Given the description of an element on the screen output the (x, y) to click on. 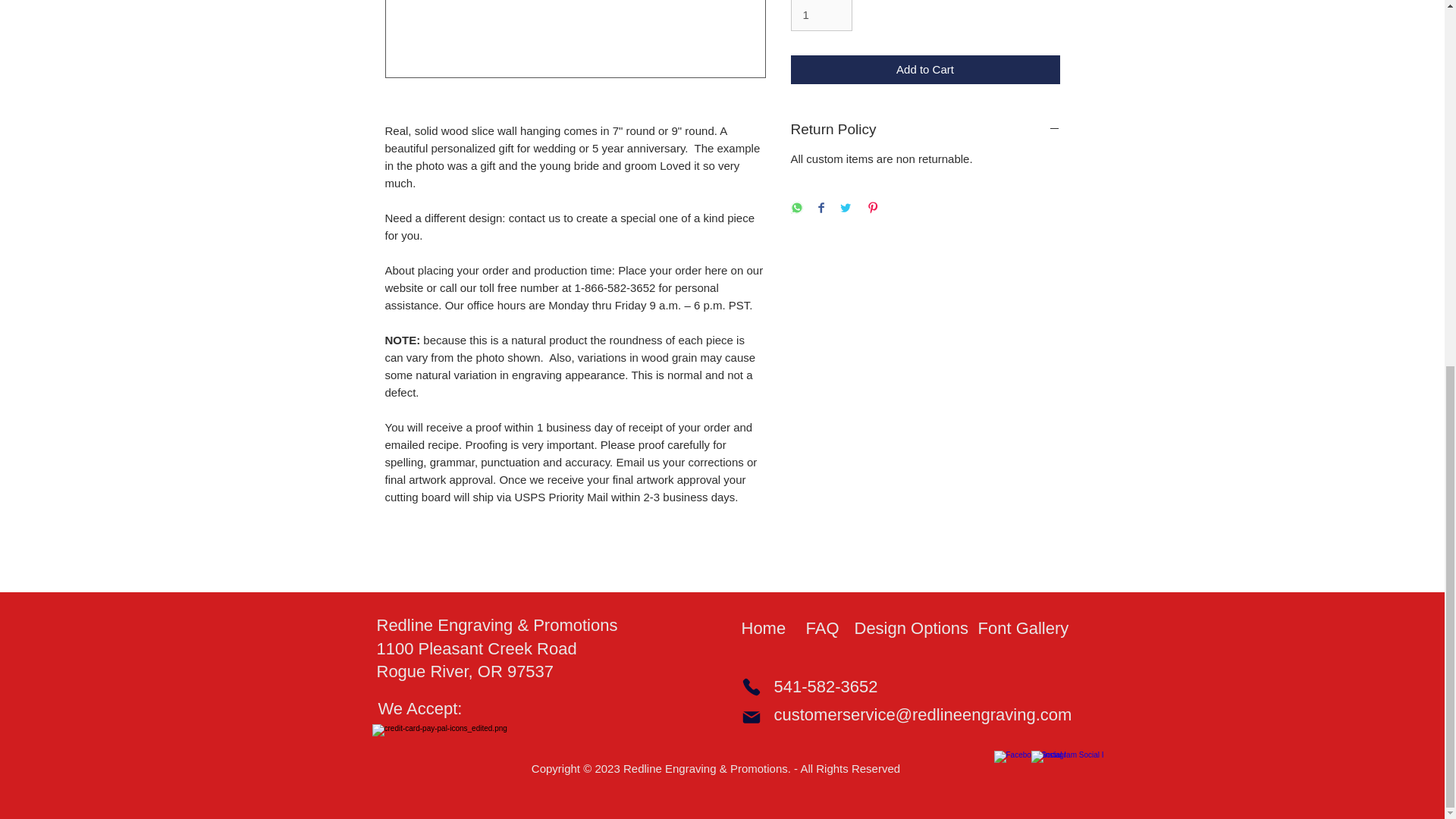
Return Policy (924, 129)
1 (820, 15)
FAQ (826, 629)
Add to Cart (924, 70)
Font Gallery (1032, 629)
541-582-3652 (825, 686)
Home (769, 629)
Design Options (910, 629)
